Given the description of an element on the screen output the (x, y) to click on. 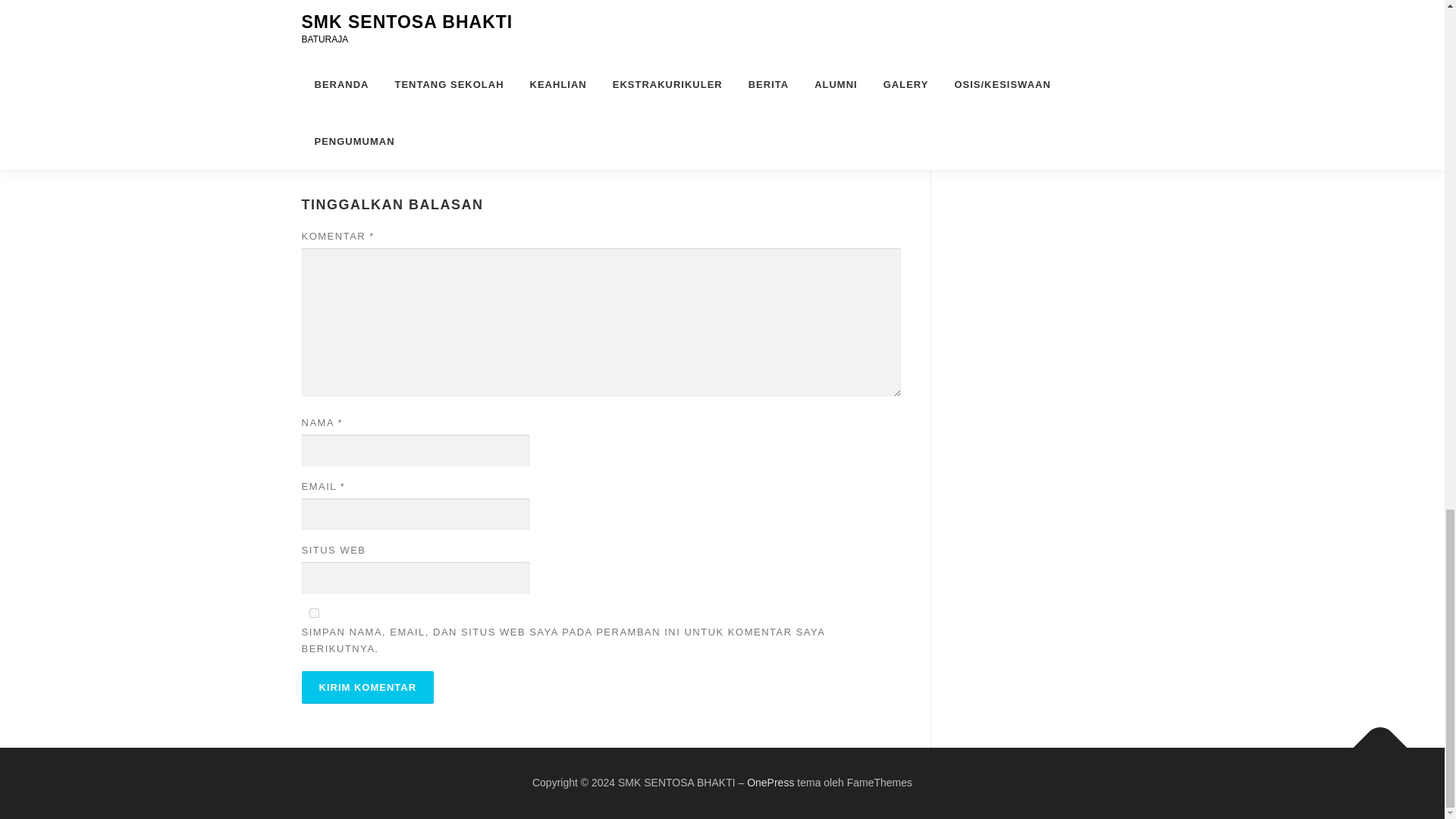
Kirim Komentar (367, 686)
Kembali ke Atas (1372, 740)
yes (313, 613)
